Given the description of an element on the screen output the (x, y) to click on. 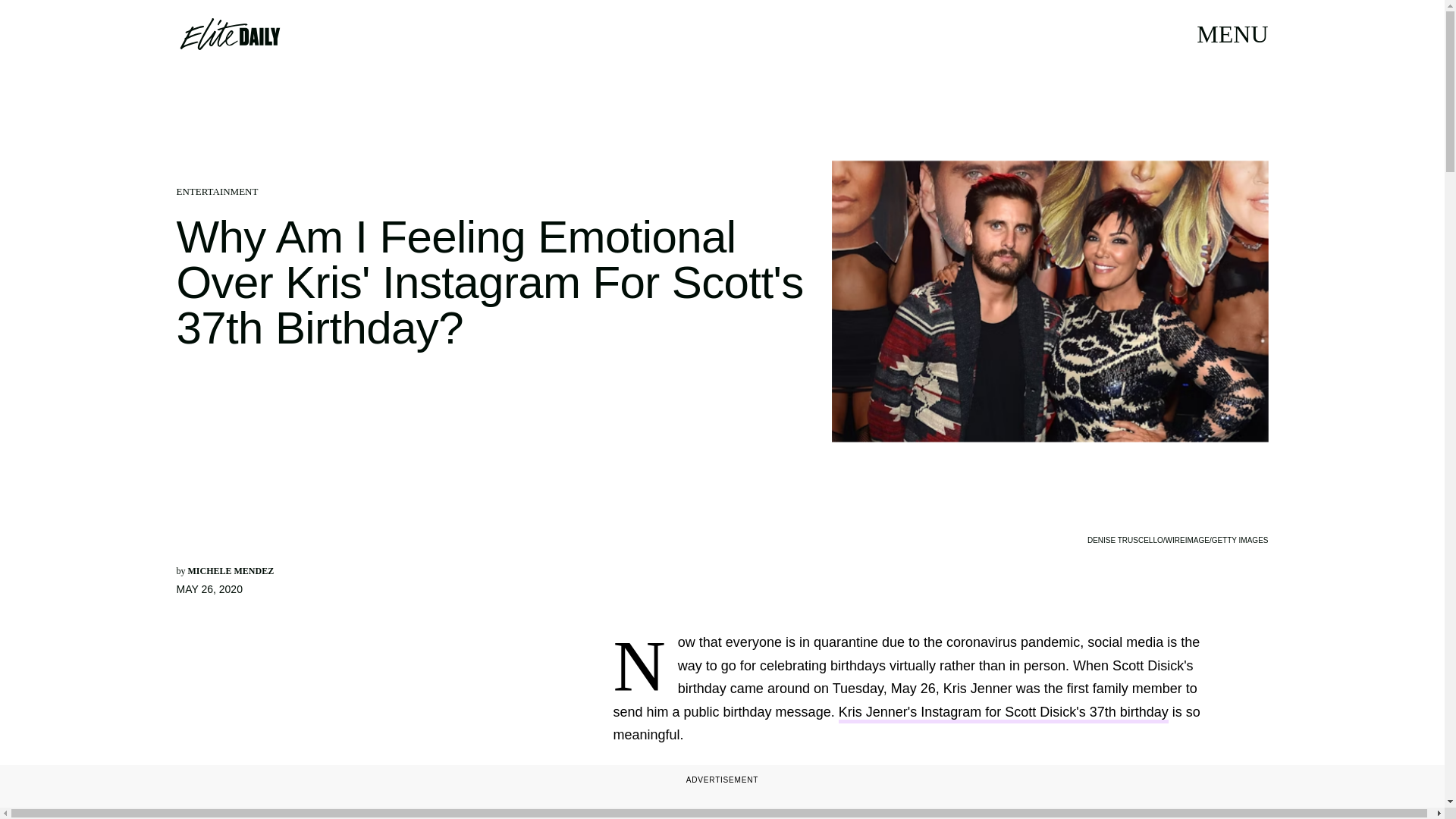
Kris Jenner's Instagram for Scott Disick's 37th birthday (1003, 713)
Elite Daily (229, 33)
MICHELE MENDEZ (231, 570)
